Given the description of an element on the screen output the (x, y) to click on. 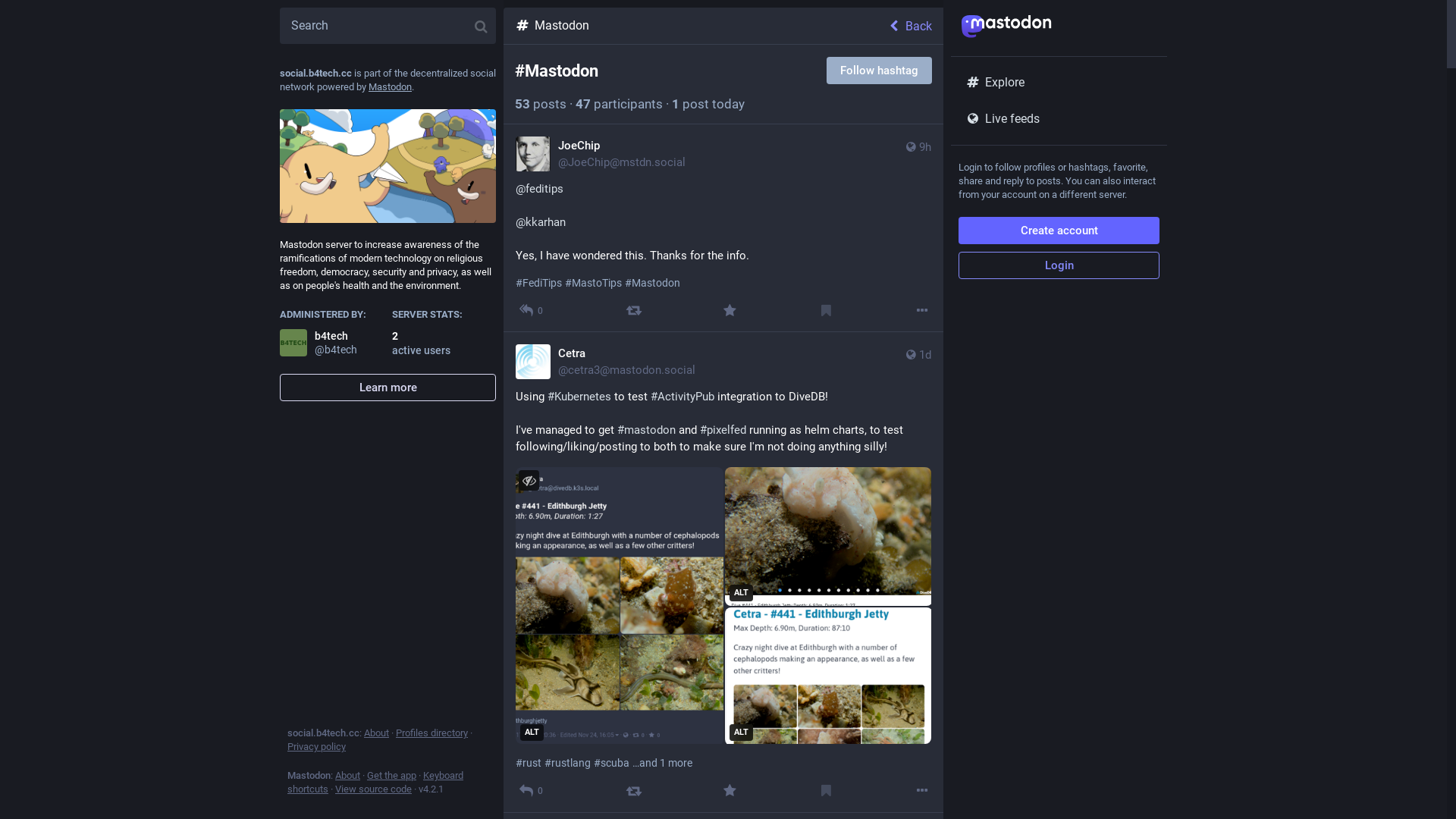
JoeChip
@JoeChip@mstdn.social Element type: text (600, 153)
Privacy policy Element type: text (316, 746)
View source code Element type: text (373, 788)
Boost Element type: hover (633, 790)
Back Element type: text (914, 25)
About Element type: text (347, 775)
9h Element type: text (917, 153)
@kkarhan Element type: text (540, 222)
#
scuba Element type: text (611, 762)
#ActivityPub Element type: text (682, 396)
Hide images Element type: hover (528, 480)
#Kubernetes Element type: text (579, 396)
Favorite Element type: hover (729, 790)
Mastodon Element type: text (694, 25)
Create account Element type: text (1058, 230)
Login Element type: text (1058, 265)
Follow hashtag Element type: text (878, 70)
#
rustlang Element type: text (567, 762)
Bookmark Element type: hover (825, 790)
Mastodon Element type: text (389, 86)
About Element type: text (376, 732)
Live feeds Element type: text (1058, 118)
Explore Element type: text (1058, 82)
0 Element type: text (530, 790)
Profiles directory Element type: text (431, 732)
Cetra
@cetra3@mastodon.social Element type: text (605, 361)
Public Element type: hover (911, 146)
0 Element type: text (530, 310)
Get the app Element type: text (391, 775)
Learn more Element type: text (387, 387)
b4tech
@b4tech Element type: text (331, 342)
Favorite Element type: hover (729, 310)
@feditips Element type: text (539, 188)
#pixelfed Element type: text (722, 429)
Boost Element type: hover (633, 310)
#mastodon Element type: text (646, 429)
#
rust Element type: text (528, 762)
#
FediTips Element type: text (538, 282)
More Element type: hover (922, 790)
More Element type: hover (922, 310)
Public Element type: hover (911, 354)
#
MastoTips Element type: text (592, 282)
Bookmark Element type: hover (825, 310)
Keyboard shortcuts Element type: text (375, 781)
1d Element type: text (917, 361)
#
Mastodon Element type: text (652, 282)
